Given the description of an element on the screen output the (x, y) to click on. 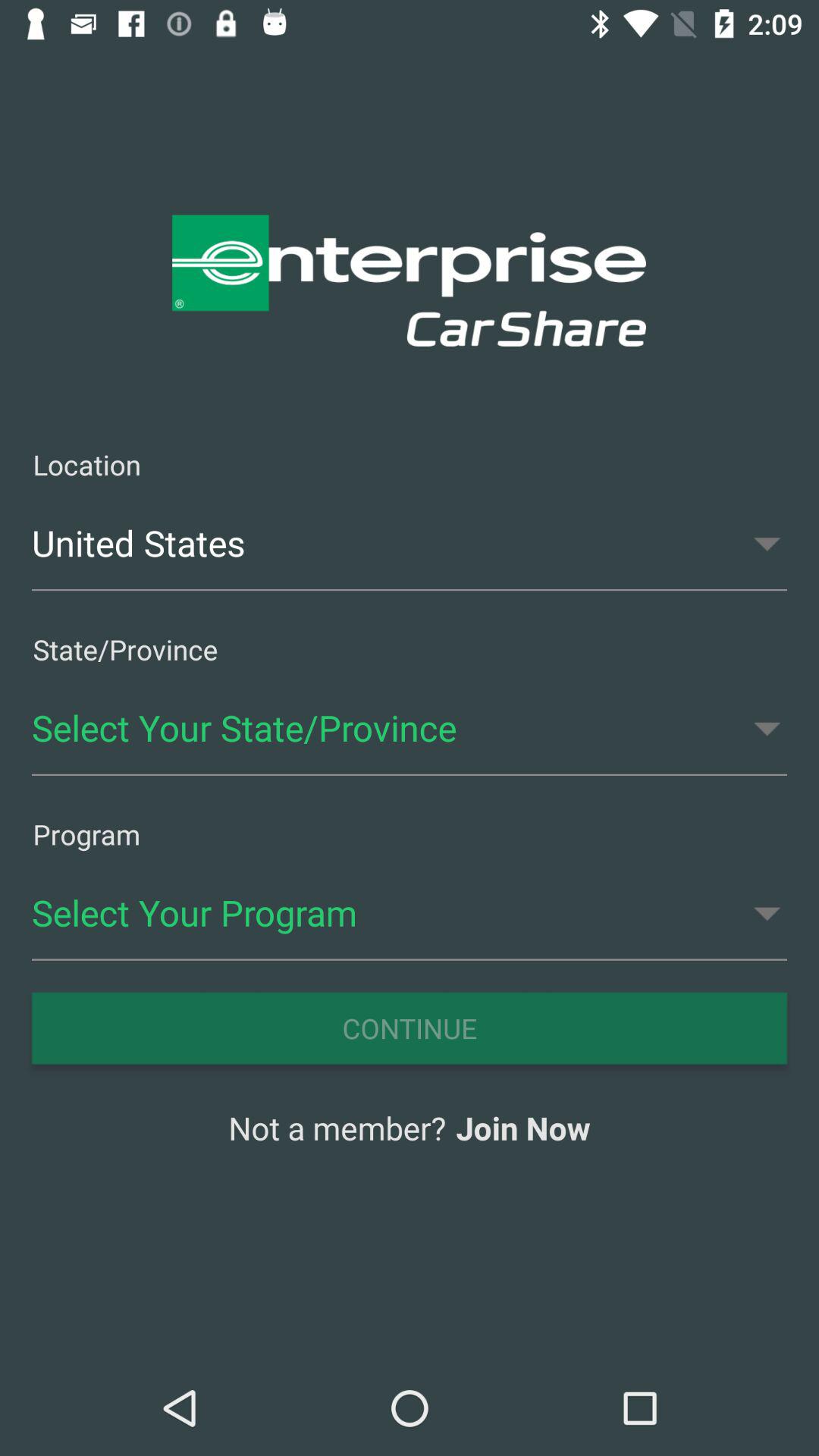
turn off the icon above the not a member? (409, 1028)
